Given the description of an element on the screen output the (x, y) to click on. 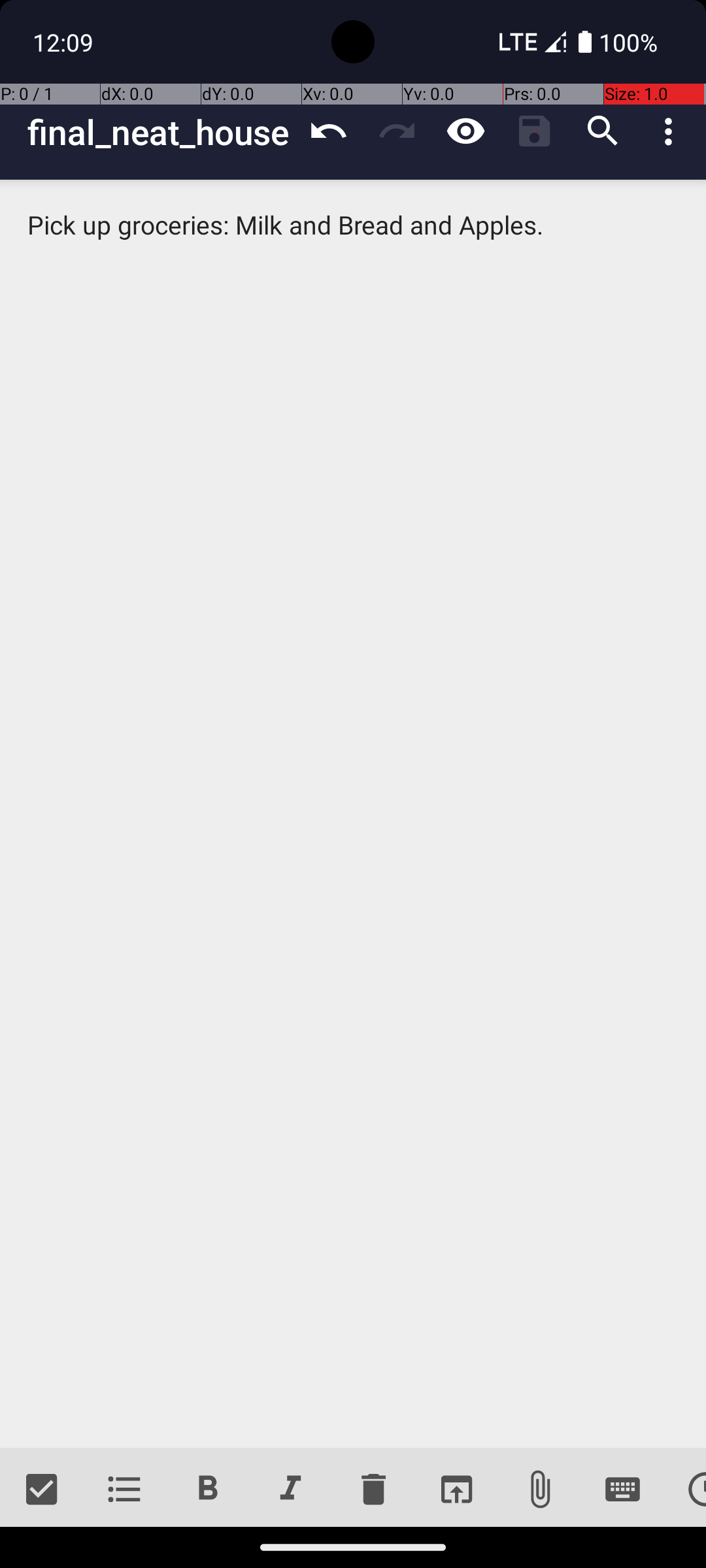
final_neat_house Element type: android.widget.TextView (160, 131)
Pick up groceries: Milk and Bread and Apples. Element type: android.widget.EditText (353, 813)
12:09 Element type: android.widget.TextView (64, 41)
